Given the description of an element on the screen output the (x, y) to click on. 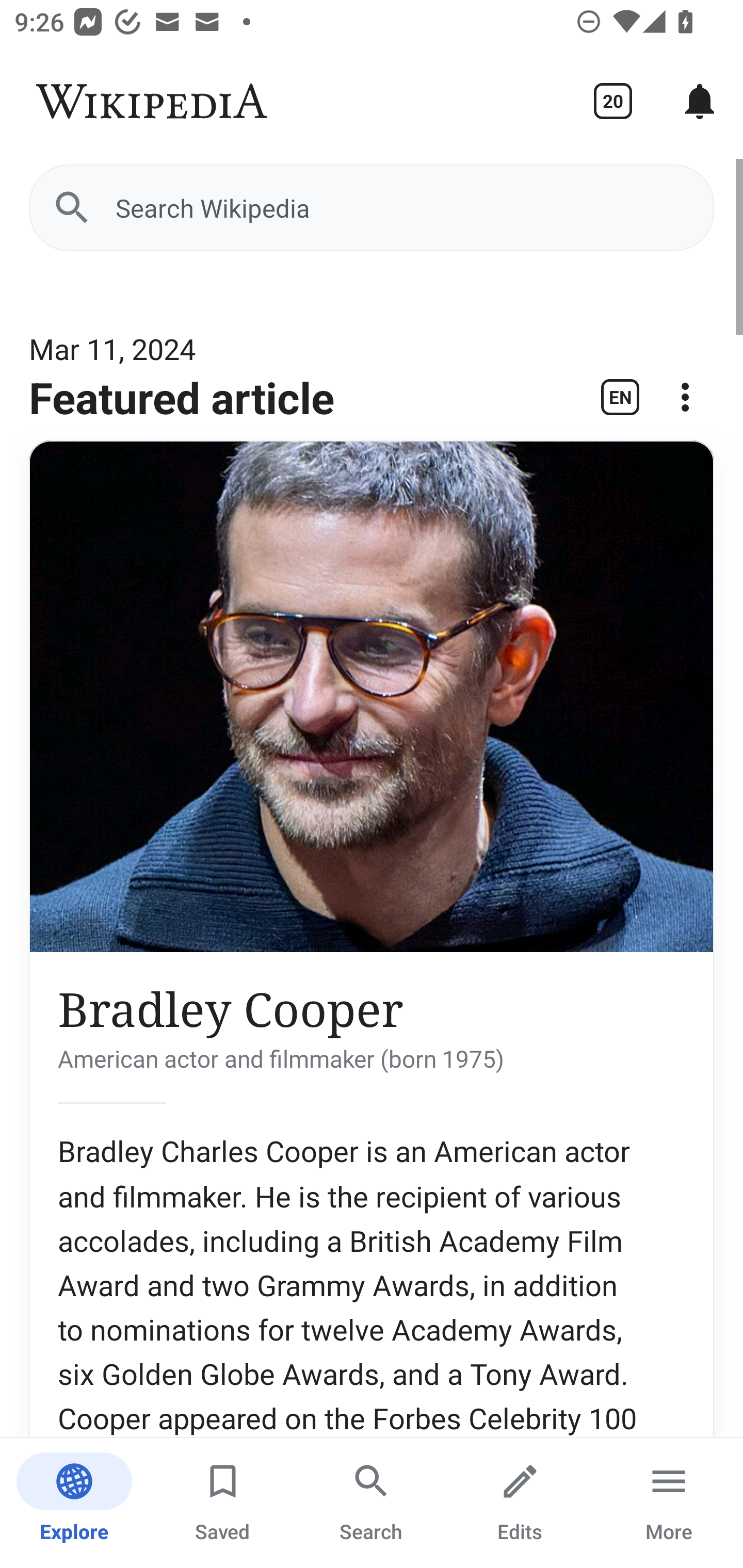
Show tabs 20 (612, 101)
Notifications (699, 101)
Search Wikipedia (371, 207)
More options (684, 404)
Saved (222, 1502)
Search (371, 1502)
Edits (519, 1502)
More (668, 1502)
